Given the description of an element on the screen output the (x, y) to click on. 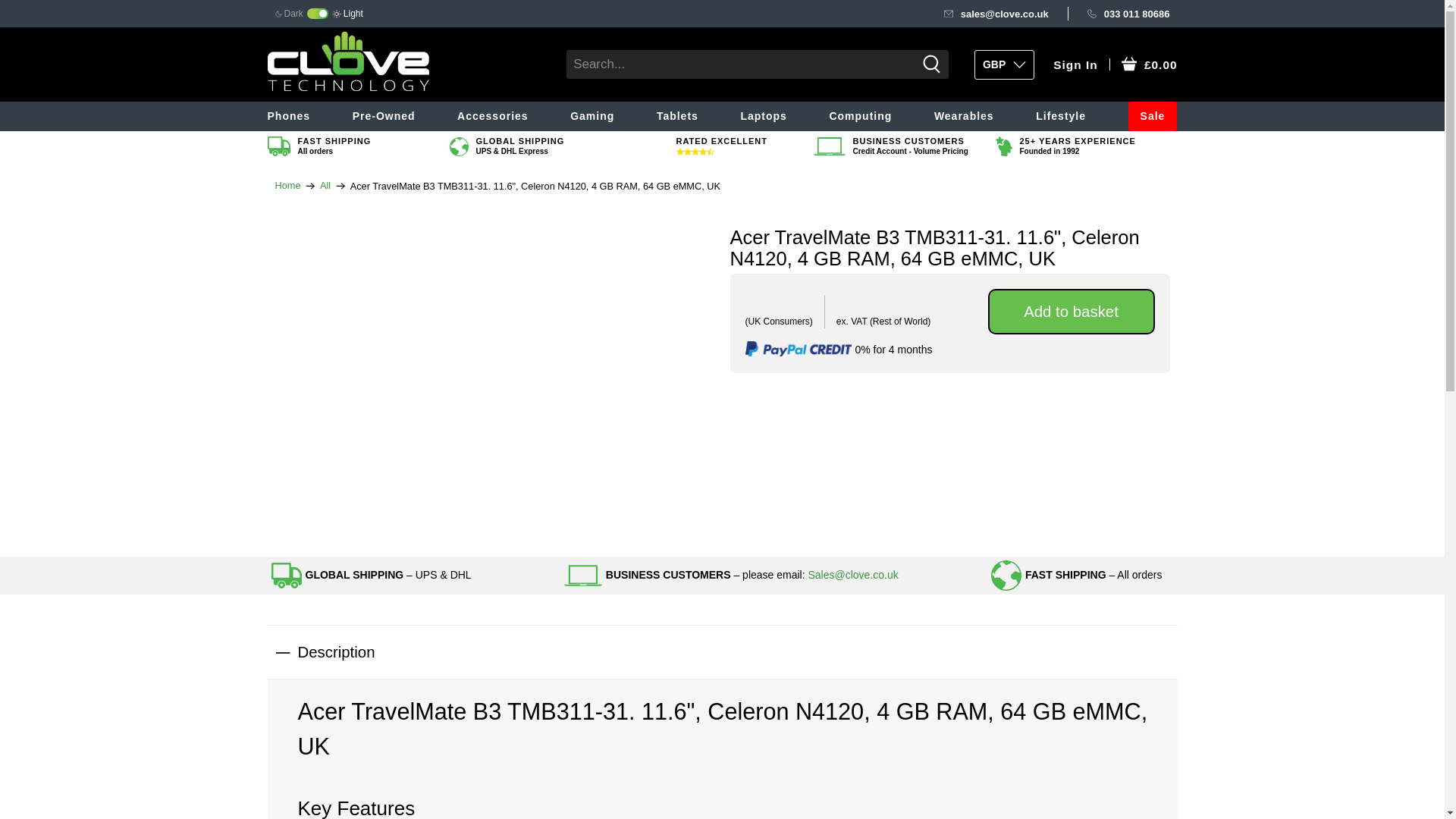
GBP (1003, 64)
Phones (303, 116)
033 011 80686 (1128, 13)
Sign In (1074, 64)
Clove Technology (287, 185)
